Given the description of an element on the screen output the (x, y) to click on. 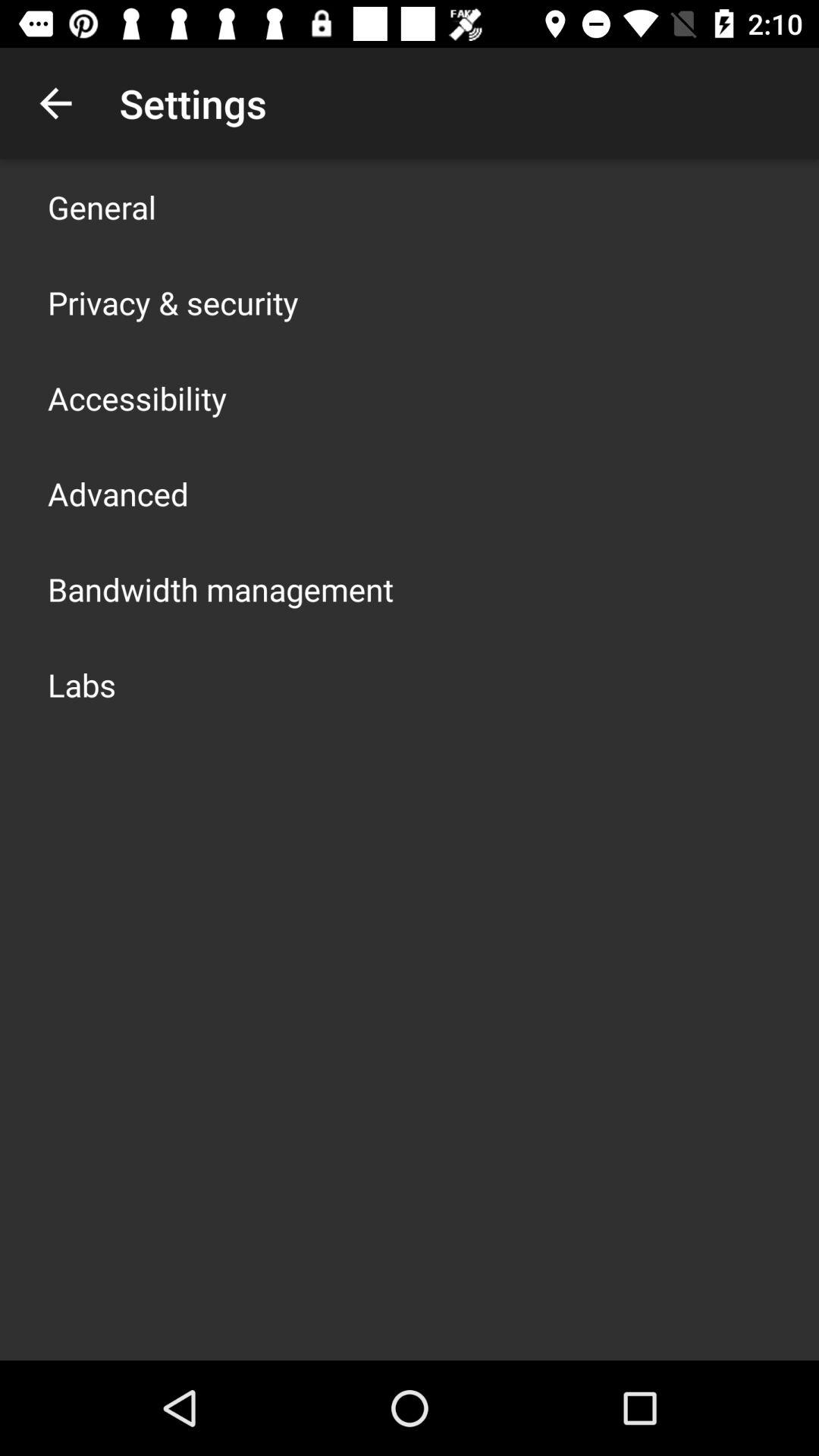
press app below general item (172, 302)
